Given the description of an element on the screen output the (x, y) to click on. 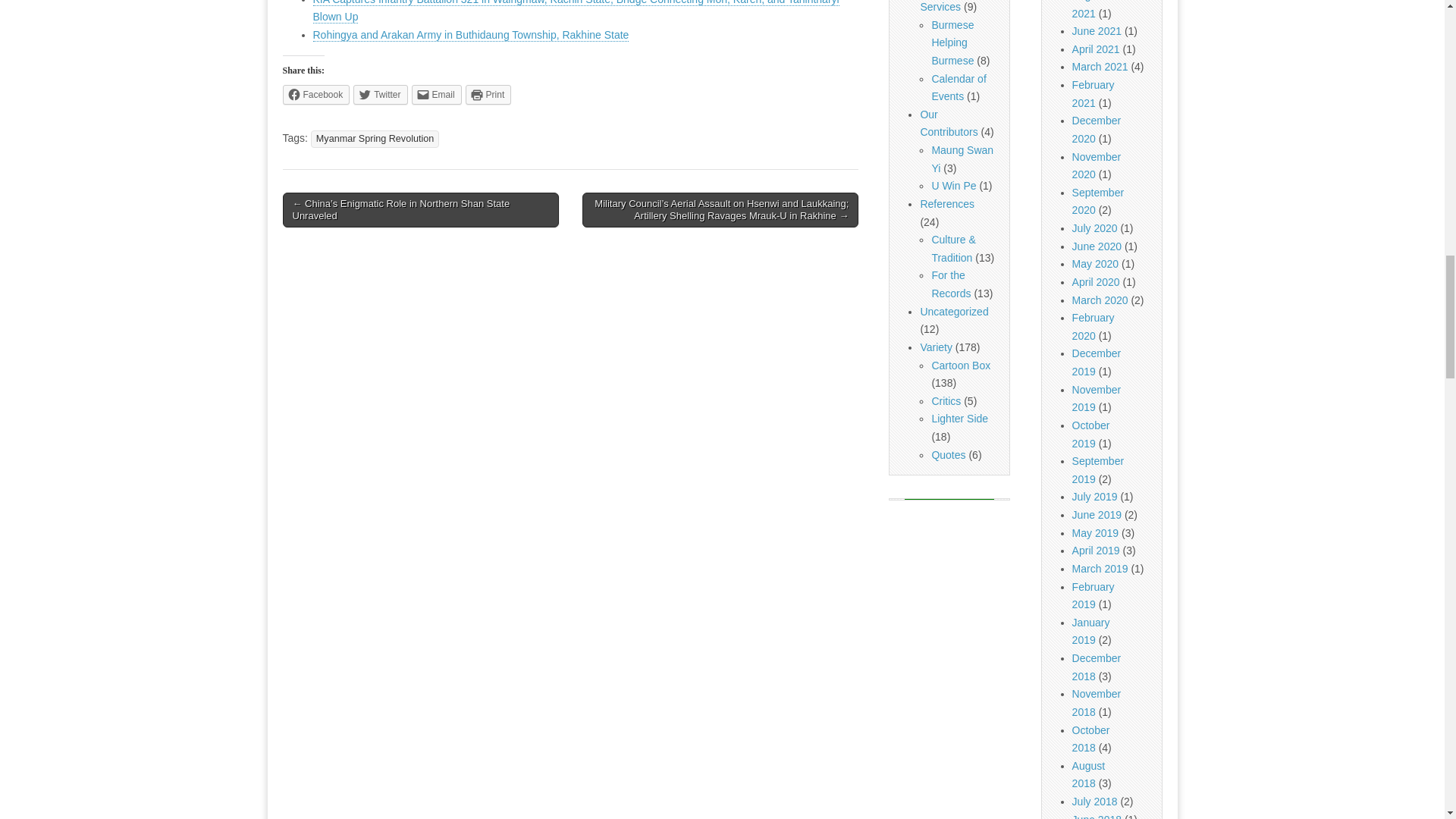
Click to share on Facebook (315, 94)
Click to print (488, 94)
Click to share on Twitter (380, 94)
Click to email a link to a friend (436, 94)
Twitter (380, 94)
Facebook (315, 94)
Print (488, 94)
Email (436, 94)
Myanmar Spring Revolution (375, 139)
